Given the description of an element on the screen output the (x, y) to click on. 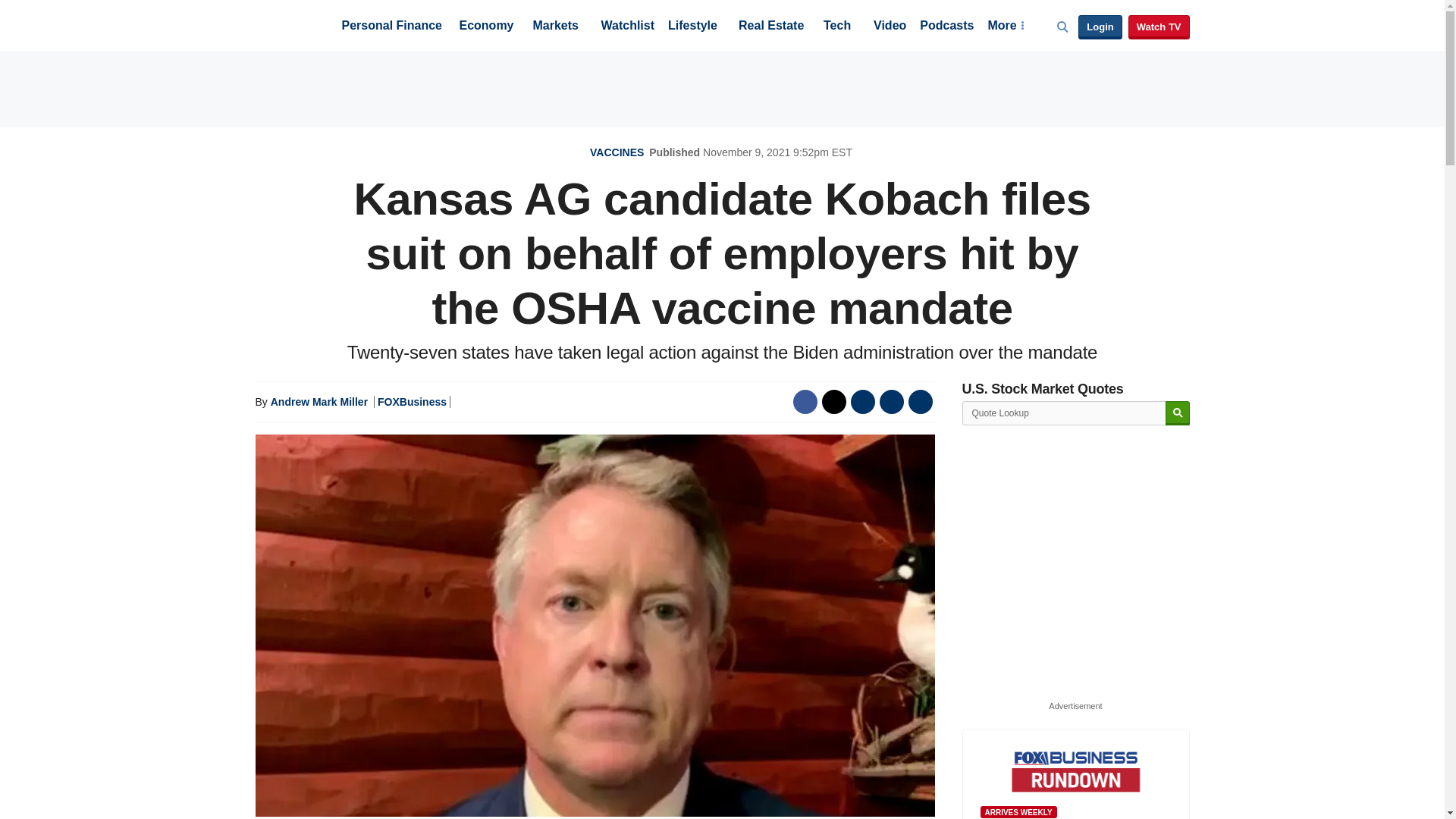
Watchlist (626, 27)
Fox Business (290, 24)
Search (1176, 413)
Podcasts (947, 27)
Real Estate (770, 27)
Markets (555, 27)
Personal Finance (391, 27)
Watch TV (1158, 27)
More (1005, 27)
Video (889, 27)
